Given the description of an element on the screen output the (x, y) to click on. 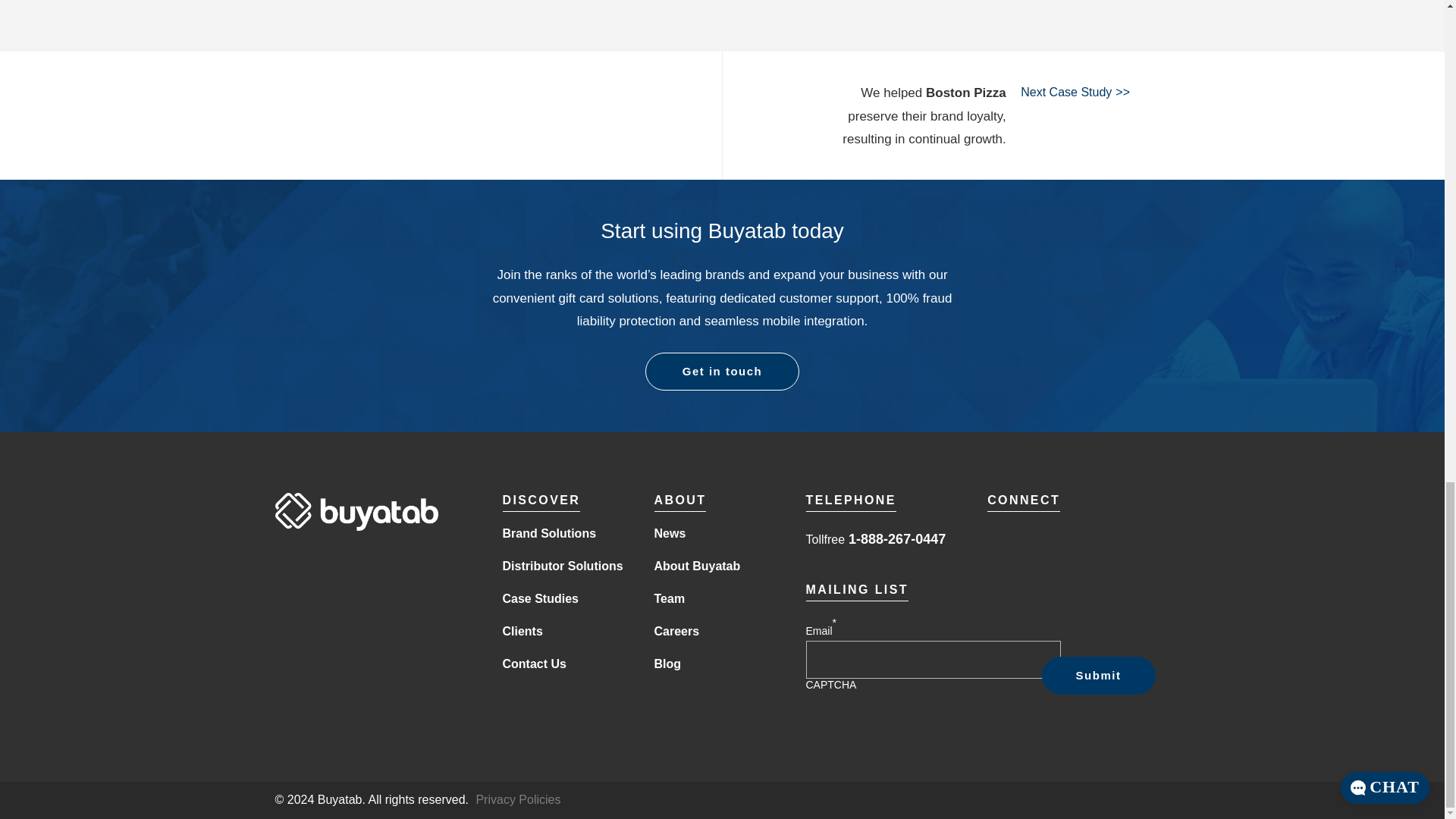
Distributor Solutions (562, 566)
Clients (521, 631)
Get in touch (722, 371)
Contact Us (534, 664)
About Buyatab (696, 566)
Case Studies (540, 599)
Careers (675, 631)
Team (668, 599)
Privacy Policies (518, 800)
